Given the description of an element on the screen output the (x, y) to click on. 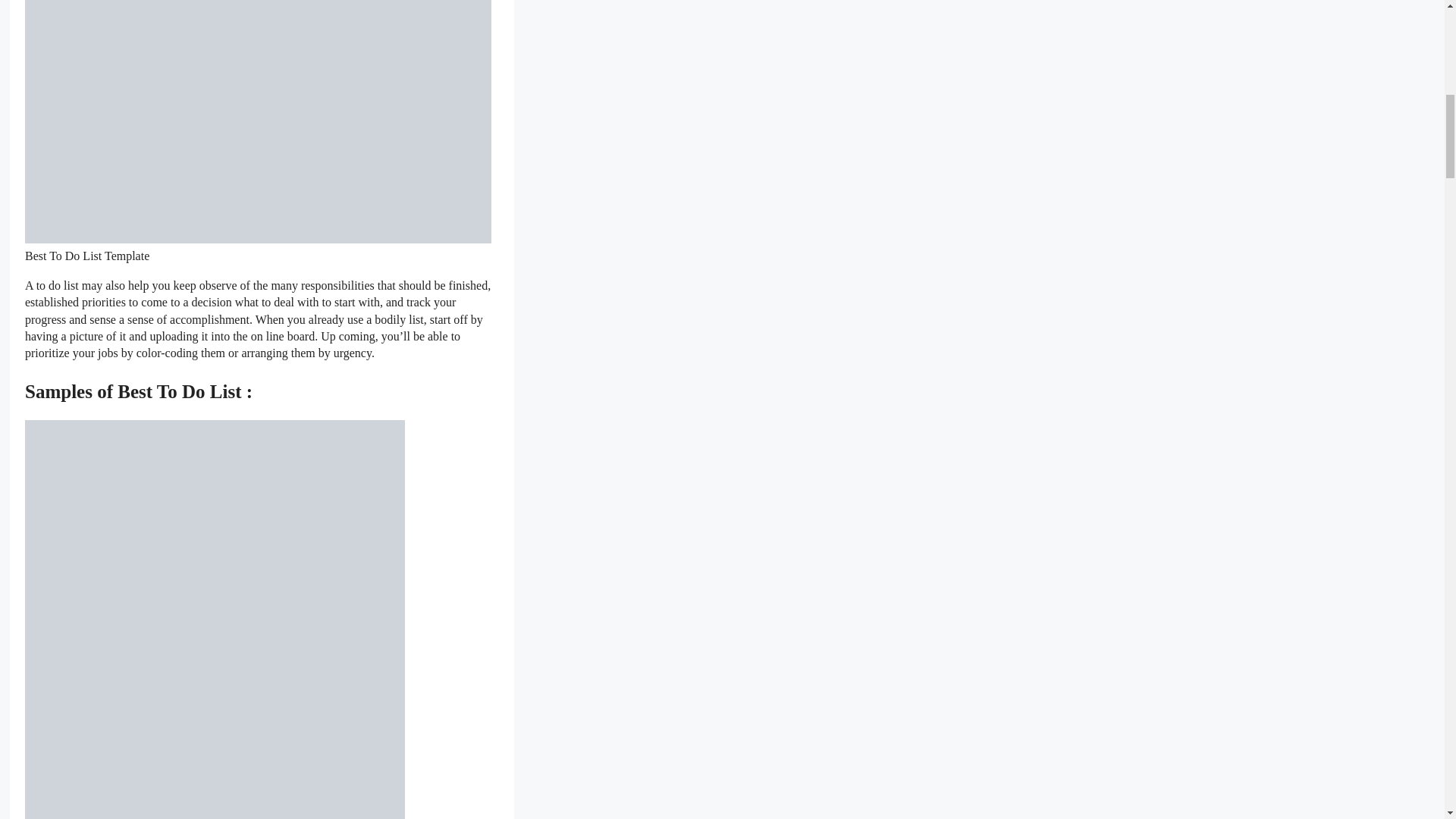
Scroll back to top (1406, 720)
